Given the description of an element on the screen output the (x, y) to click on. 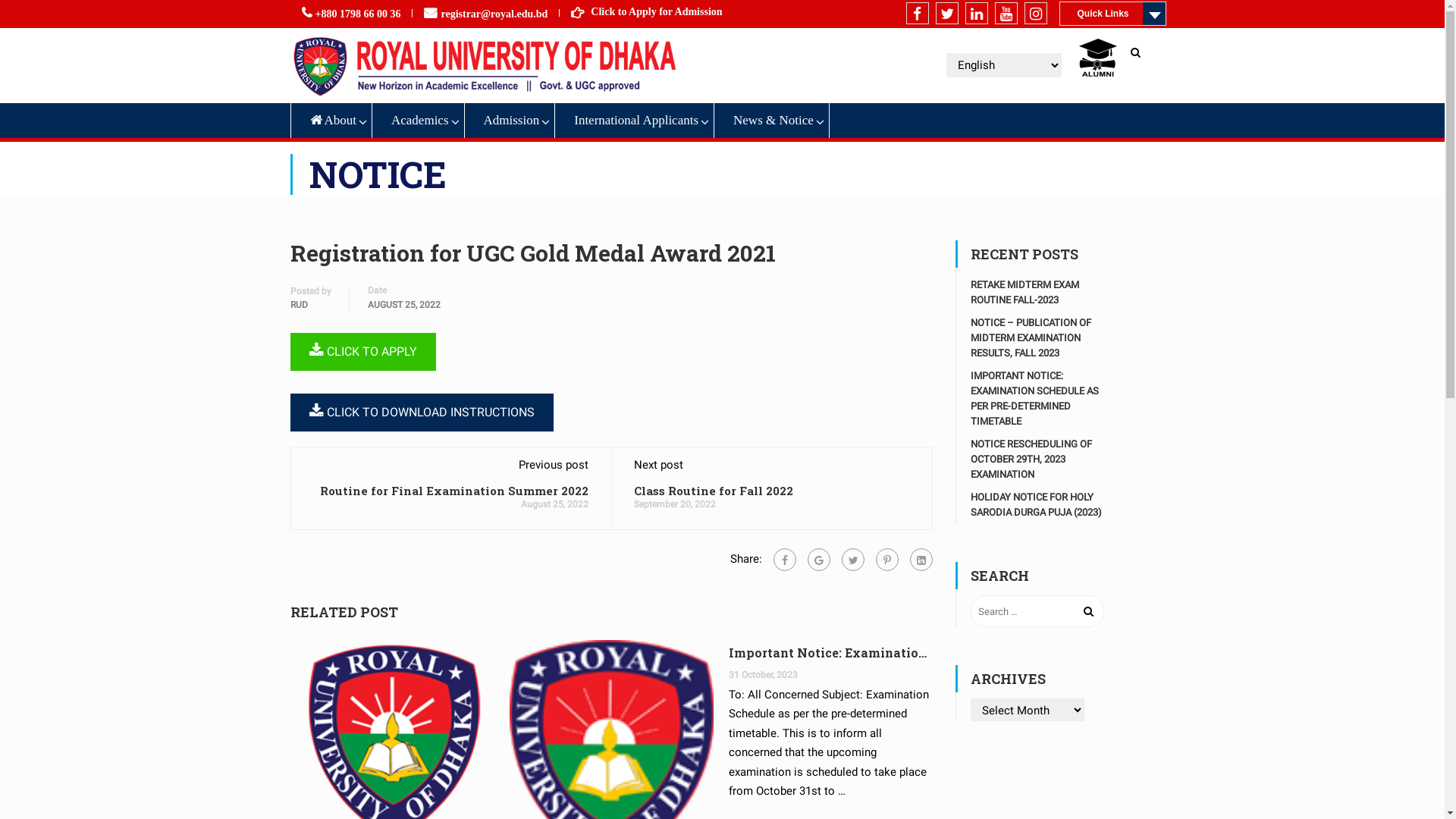
Pinterest Element type: hover (886, 559)
Quick Links Element type: text (1112, 13)
twitter Element type: text (946, 13)
Alumni Element type: hover (1097, 57)
NOTICE RESCHEDULING OF OCTOBER 29TH, 2023 EXAMINATION Element type: text (1031, 459)
Academics Element type: text (418, 120)
Search Element type: text (1088, 610)
Facebook Element type: text (917, 13)
Routine for Final Examination Summer 2022 Element type: text (454, 490)
Class Routine for Fall 2022 Element type: text (713, 490)
CLICK TO APPLY Element type: text (362, 351)
Search Element type: text (1138, 58)
Youtube Element type: text (1005, 13)
Click to Apply for Admission Element type: text (655, 11)
About Element type: text (330, 120)
CLICK TO DOWNLOAD INSTRUCTIONS Element type: text (420, 412)
registrar@royal.edu.bd Element type: text (493, 13)
+880 1798 66 00 36 Element type: text (358, 13)
Twitter Element type: hover (852, 559)
Google Plus Element type: hover (818, 559)
Linkedin Element type: text (976, 13)
News & Notice Element type: text (771, 120)
HOLIDAY NOTICE FOR HOLY SARODIA DURGA PUJA (2023) Element type: text (1035, 504)
Admission Element type: text (509, 120)
RUD Element type: text (298, 303)
Instagram Element type: text (1035, 13)
Facebook Element type: hover (784, 559)
RETAKE MIDTERM EXAM ROUTINE FALL-2023 Element type: text (1024, 292)
International Applicants Element type: text (634, 120)
